Given the description of an element on the screen output the (x, y) to click on. 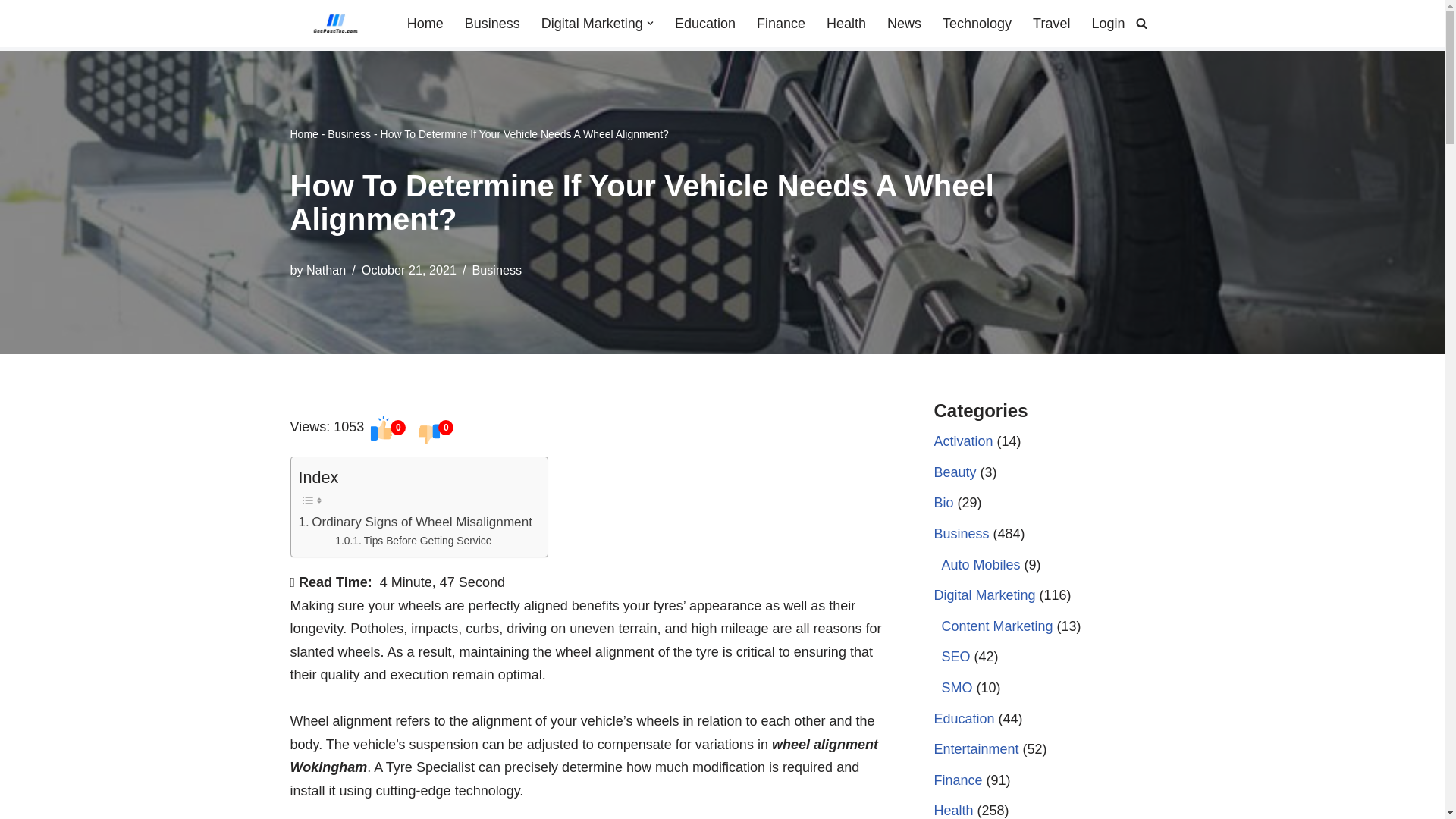
Ordinary Signs of Wheel Misalignment (415, 521)
Digital Marketing (592, 23)
Business (349, 133)
Education (705, 23)
Login (1107, 23)
Business (491, 23)
Travel (1051, 23)
Finance (781, 23)
Tips Before Getting Service (413, 540)
Skip to content (11, 31)
